Given the description of an element on the screen output the (x, y) to click on. 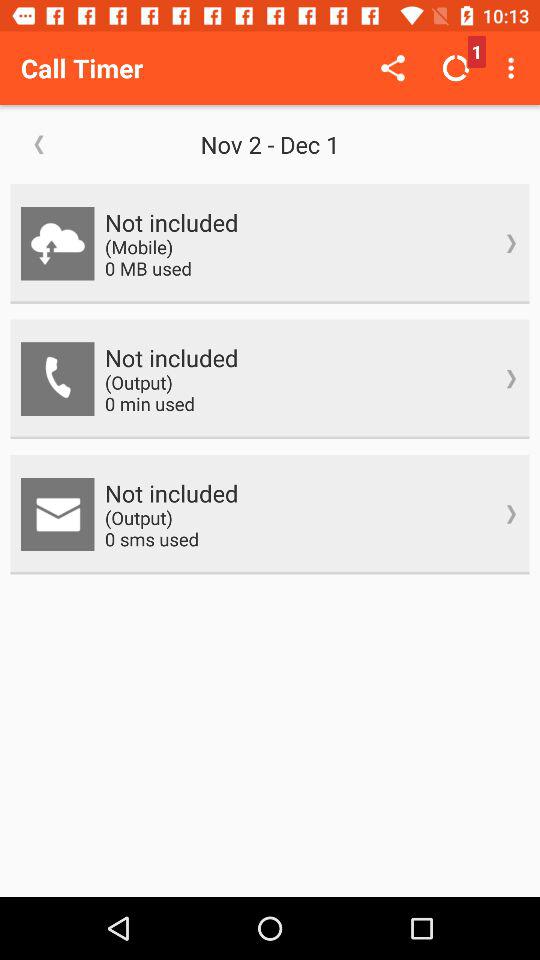
choose the icon to the left of nov 2 dec item (39, 144)
